Given the description of an element on the screen output the (x, y) to click on. 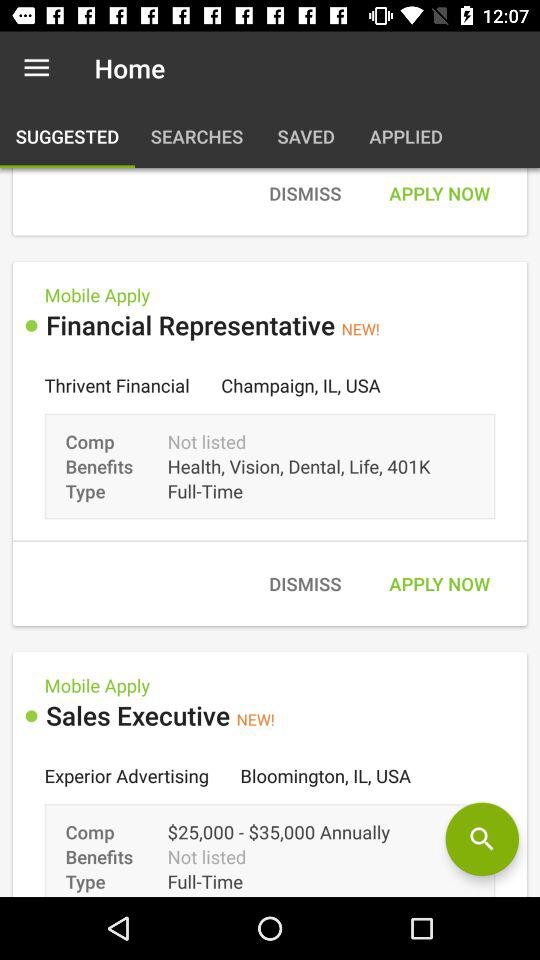
select the first option which is below dismiss on a page (269, 443)
